Given the description of an element on the screen output the (x, y) to click on. 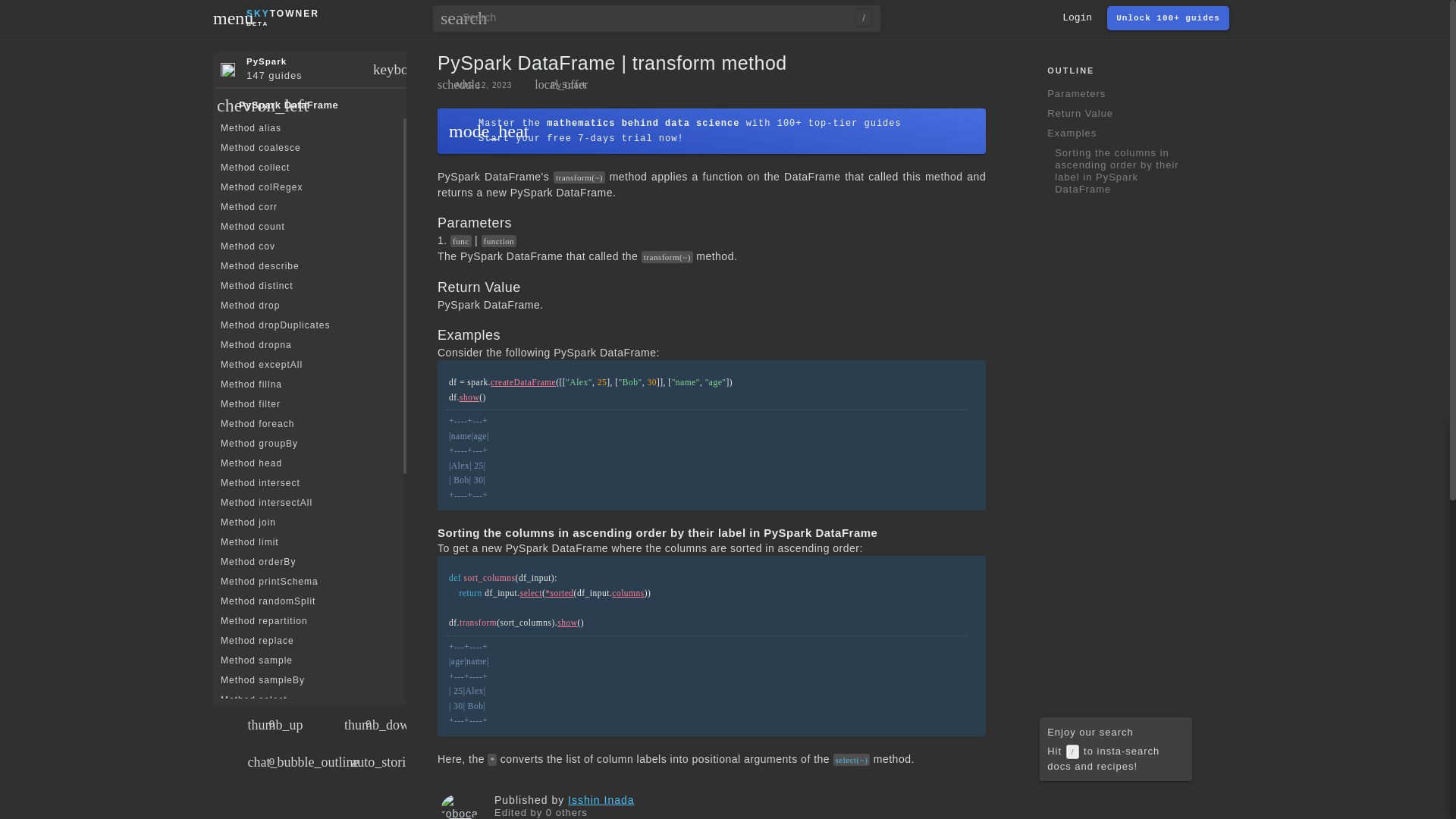
Method alias (282, 17)
Method coalesce (307, 127)
